Given the description of an element on the screen output the (x, y) to click on. 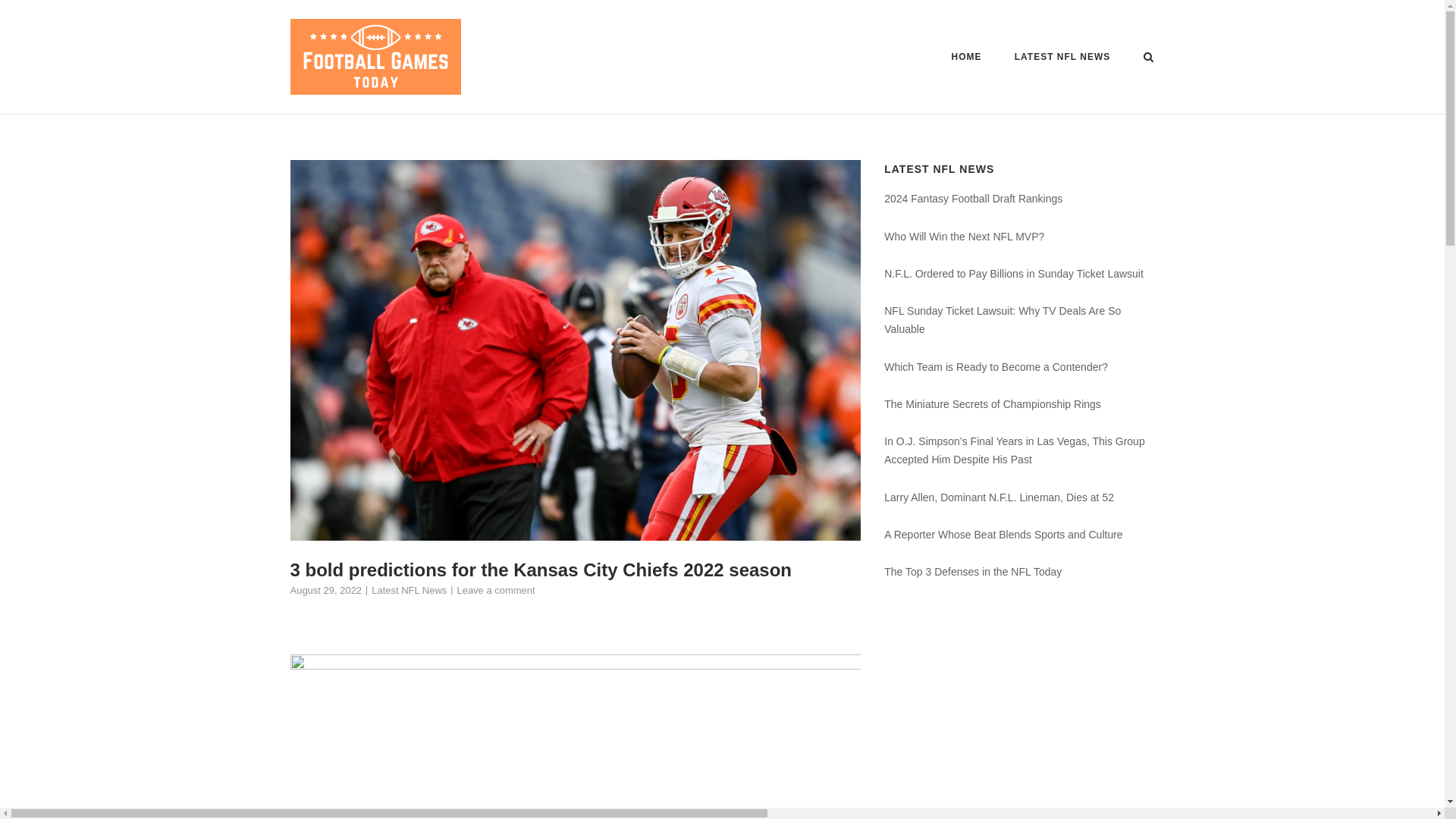
NFL Sunday Ticket Lawsuit: Why TV Deals Are So Valuable (1002, 319)
HOME (966, 59)
Who Will Win the Next NFL MVP? (963, 236)
Leave a comment (495, 590)
Larry Allen, Dominant N.F.L. Lineman, Dies at 52 (998, 497)
Which Team is Ready to Become a Contender? (995, 367)
A Reporter Whose Beat Blends Sports and Culture (1002, 534)
LATEST NFL NEWS (1062, 59)
The Miniature Secrets of Championship Rings (991, 404)
The Top 3 Defenses in the NFL Today (972, 571)
Latest NFL News (408, 590)
2024 Fantasy Football Draft Rankings (972, 198)
N.F.L. Ordered to Pay Billions in Sunday Ticket Lawsuit (1012, 273)
